Given the description of an element on the screen output the (x, y) to click on. 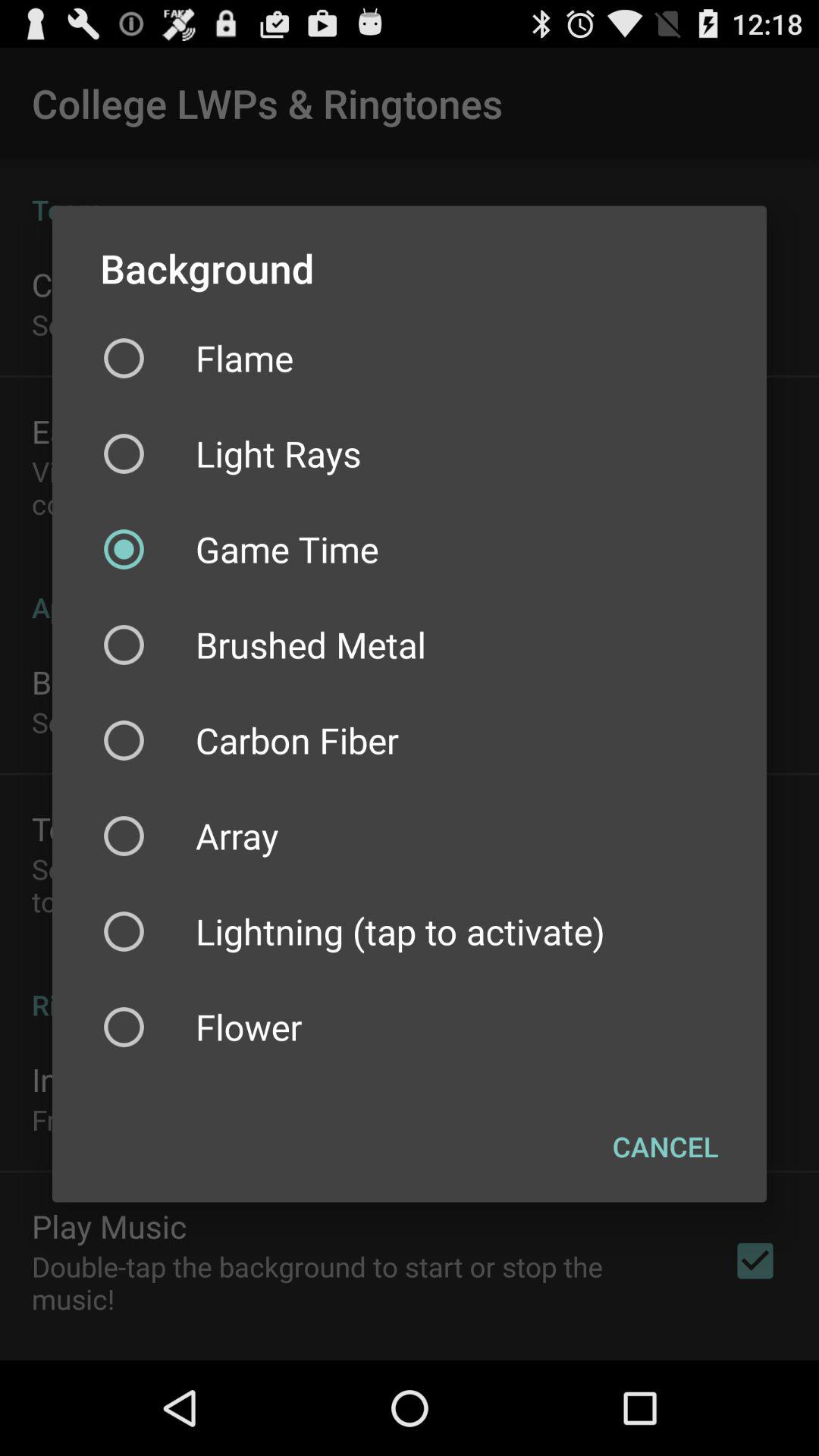
launch the cancel button (665, 1146)
